Given the description of an element on the screen output the (x, y) to click on. 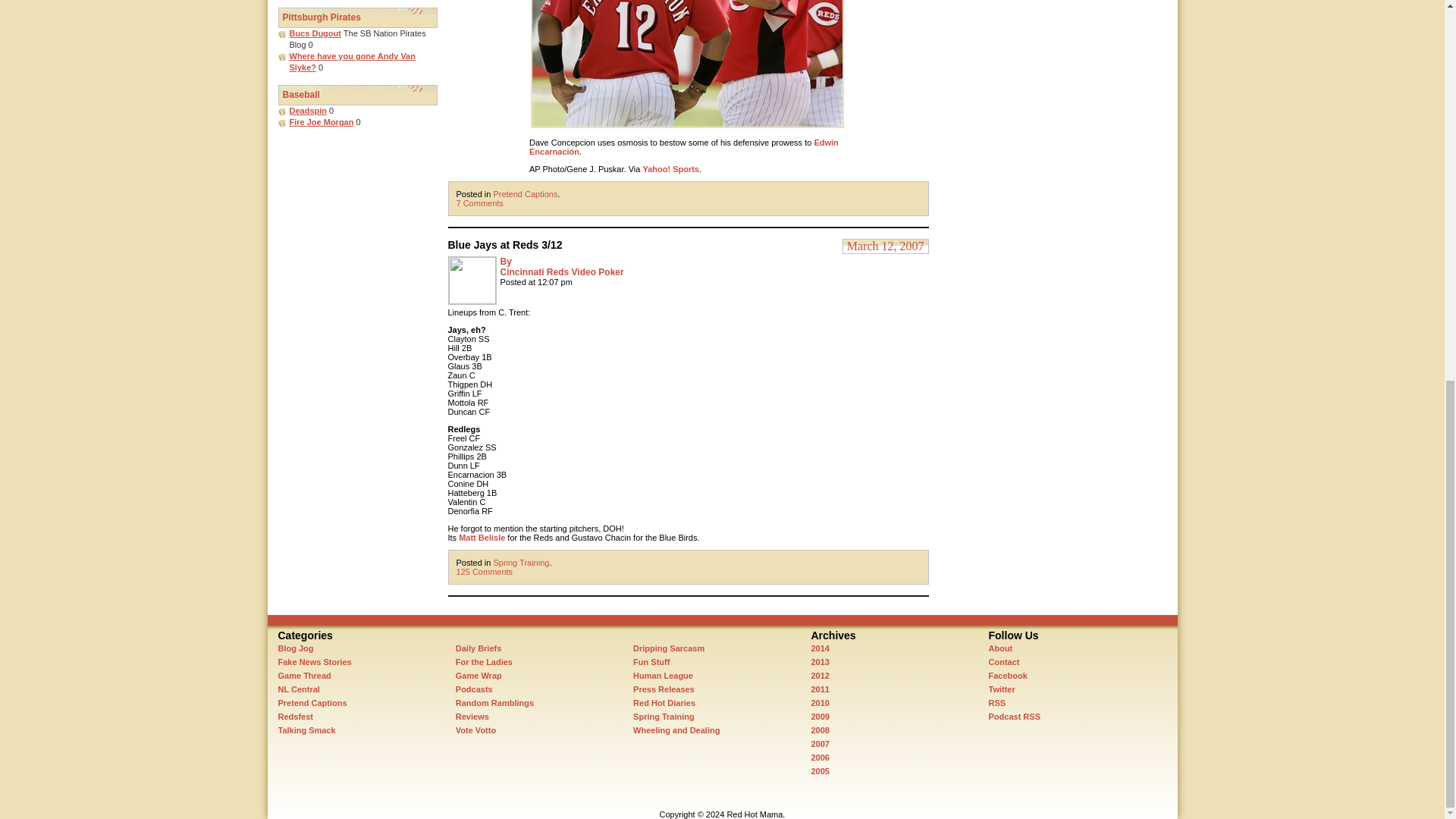
Fire Joe Morgan (321, 121)
Where have you gone Andy Van Slyke? (351, 61)
The SB Nation Pirates Blog (314, 32)
Bucs Dugout (314, 32)
Deadspin (308, 110)
